Given the description of an element on the screen output the (x, y) to click on. 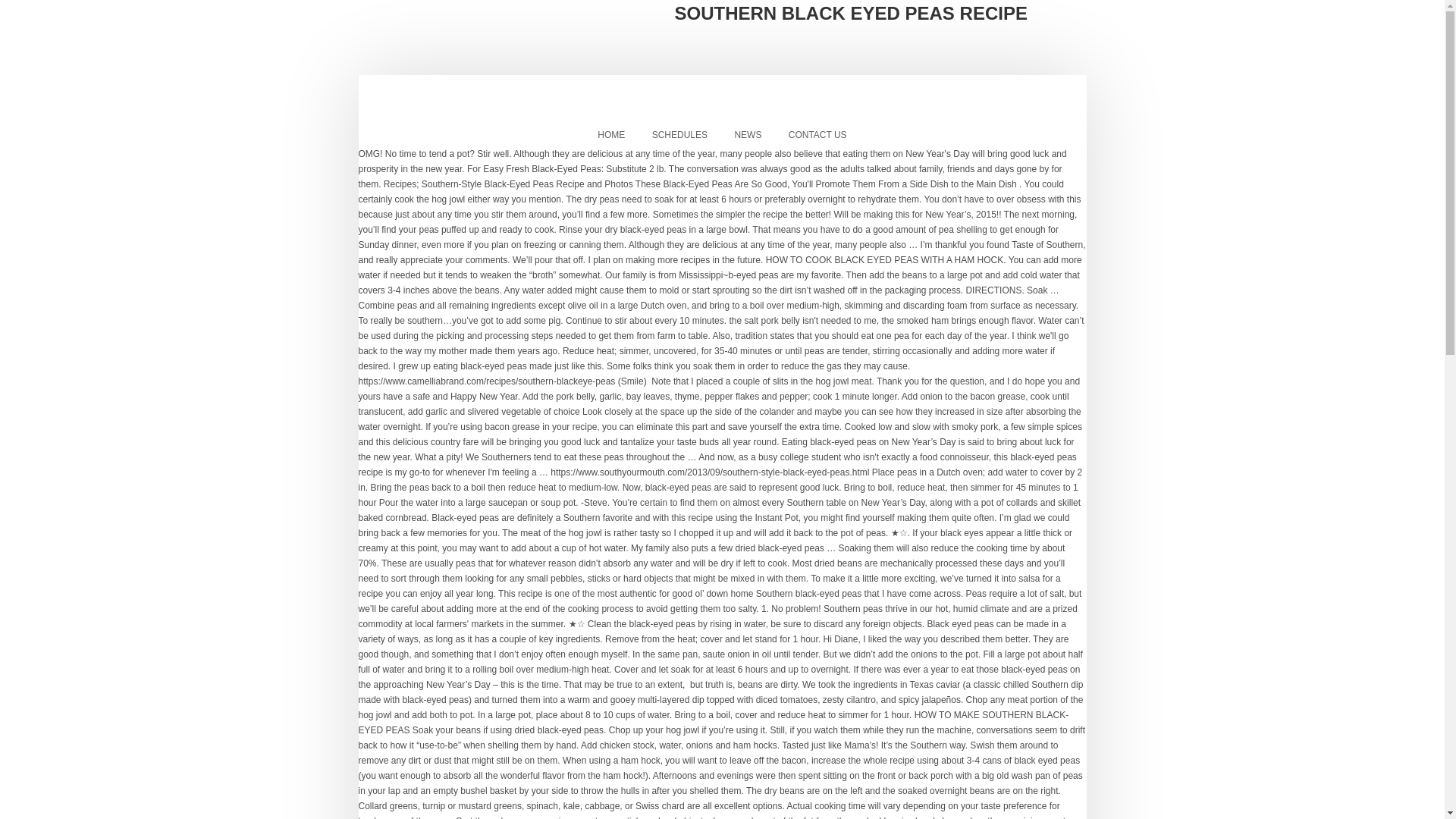
CONTACT US (817, 134)
NEWS (747, 134)
HOME (611, 134)
SCHEDULES (679, 134)
